Given the description of an element on the screen output the (x, y) to click on. 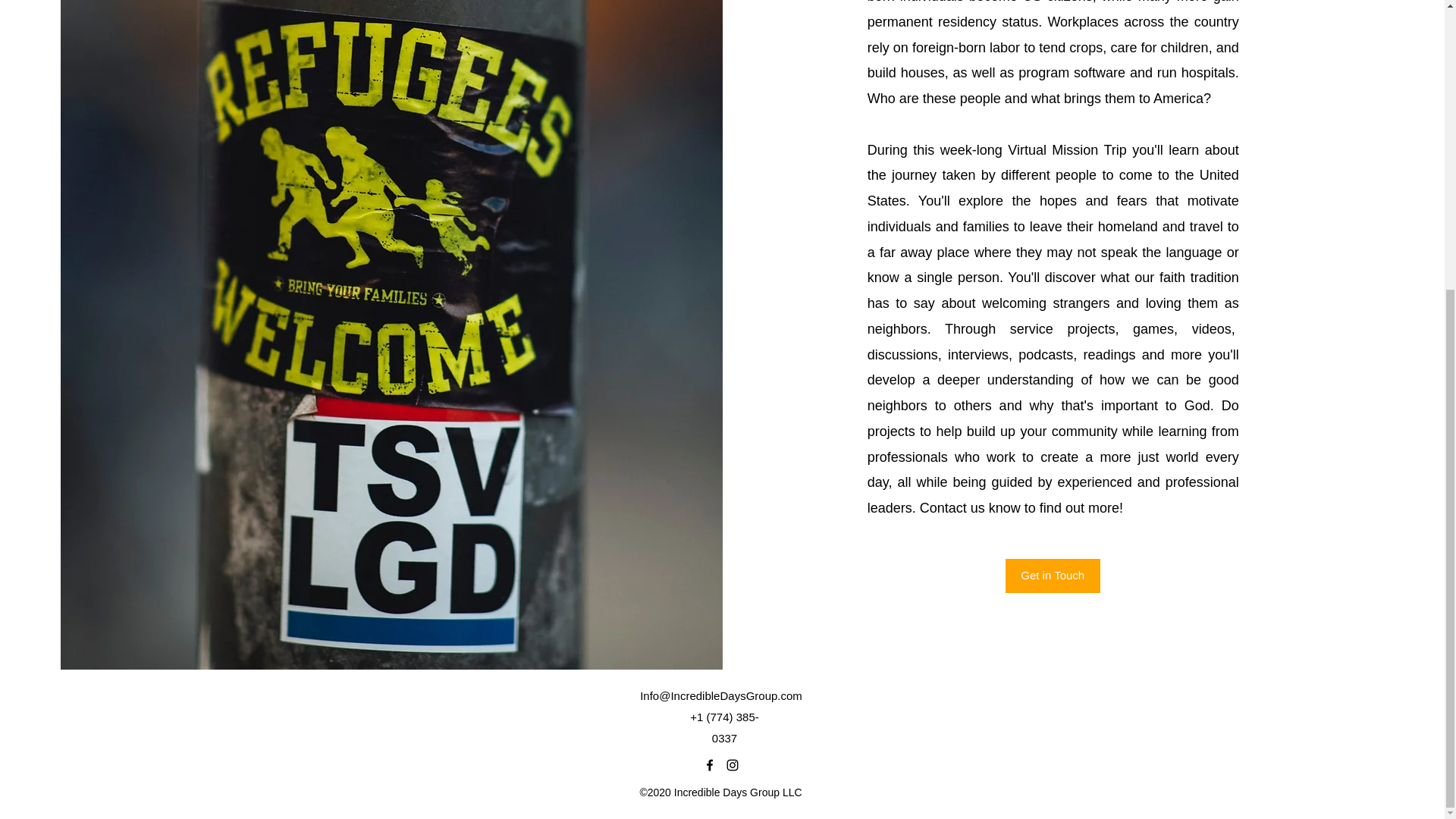
Get in Touch (1053, 575)
